Given the description of an element on the screen output the (x, y) to click on. 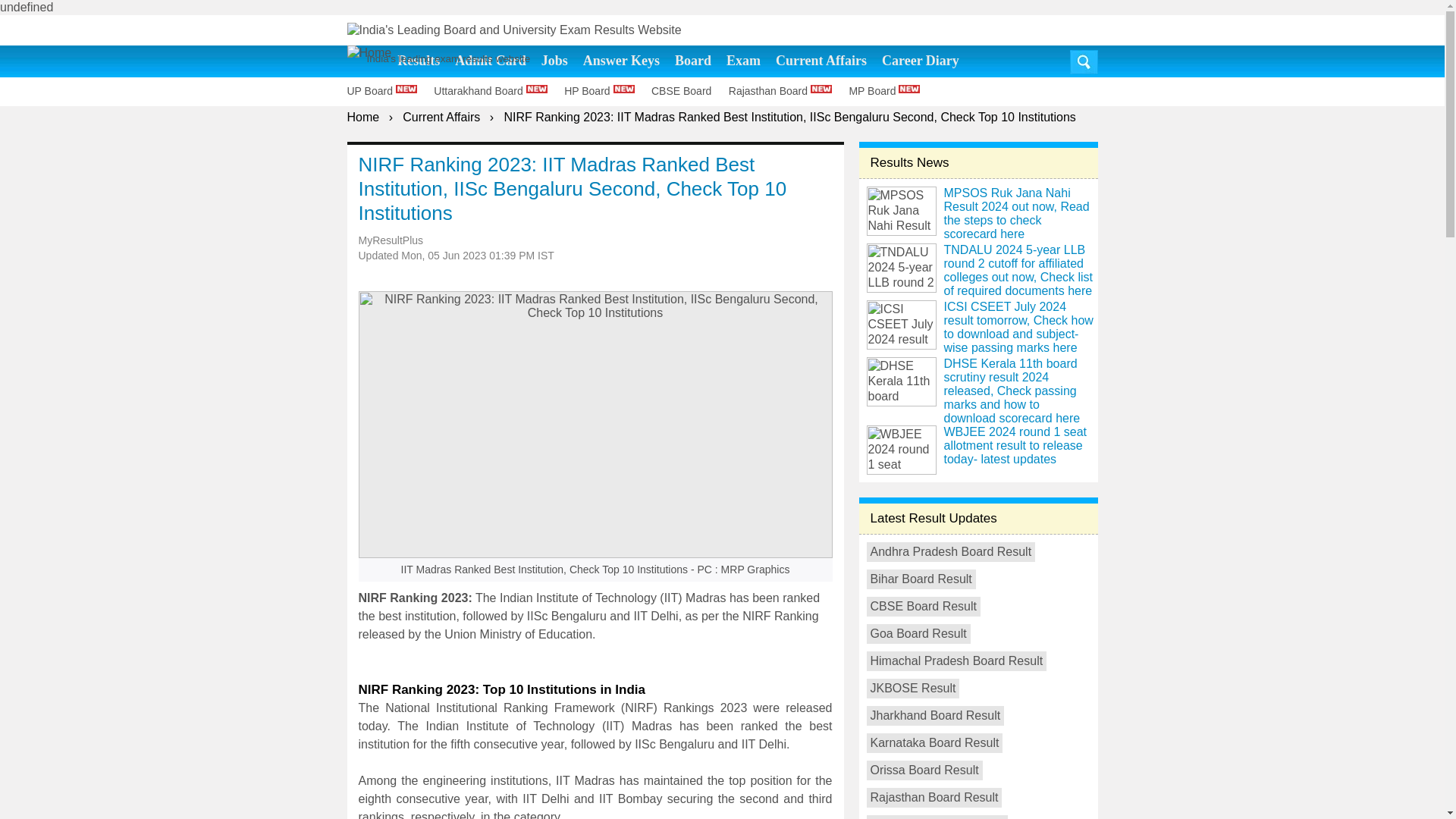
Admit Card (490, 60)
Board (692, 60)
Current Affairs (441, 117)
CBSE Board (687, 91)
HP Board (605, 91)
MP Board (890, 91)
Home (363, 117)
Exam (743, 60)
Jobs (554, 60)
Uttarakhand Board (496, 91)
